Given the description of an element on the screen output the (x, y) to click on. 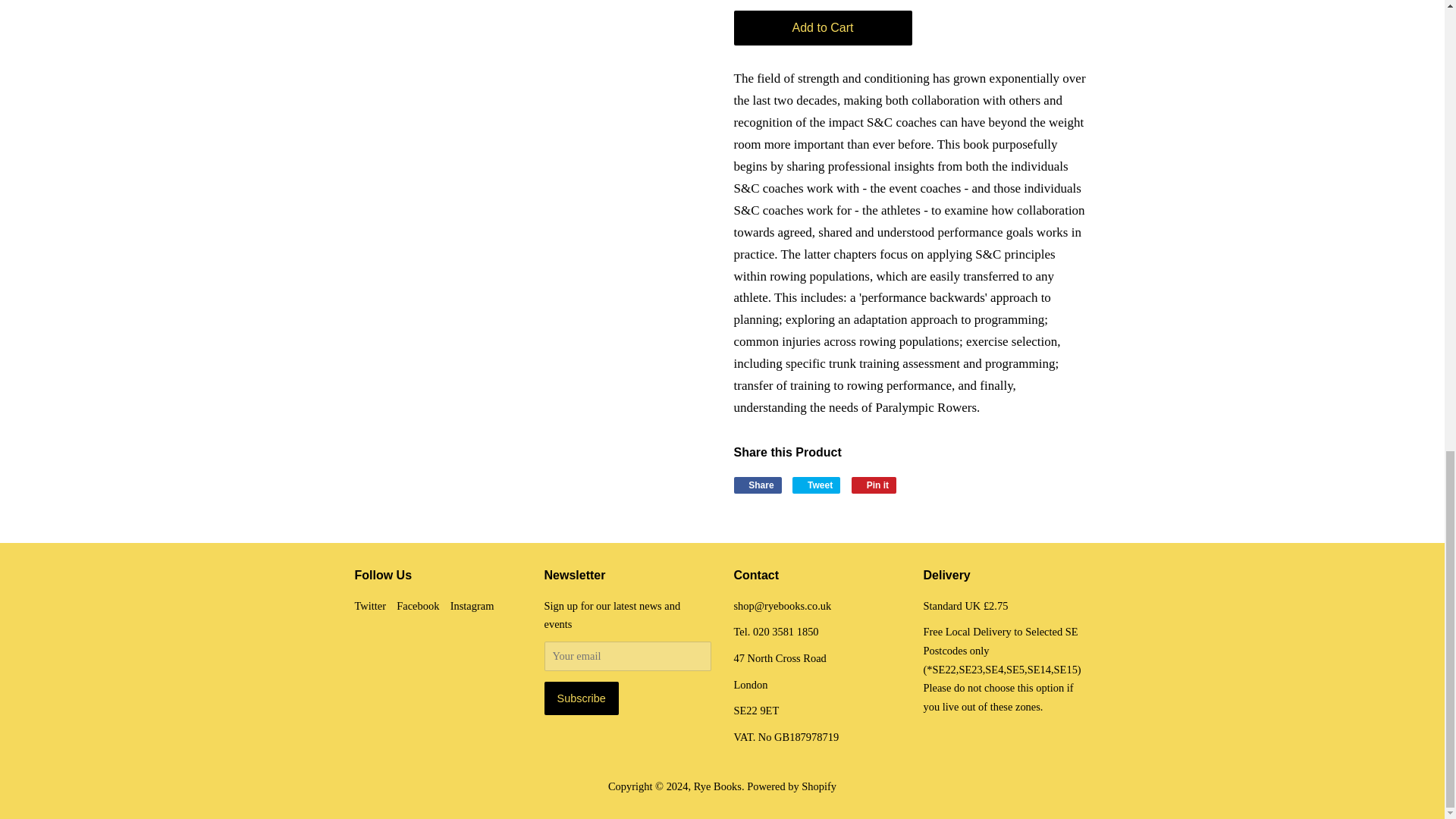
Pin on Pinterest (873, 484)
Tweet on Twitter (816, 484)
Share on Facebook (757, 484)
Rye Books on Instagram (472, 605)
Rye Books on Twitter (371, 605)
Subscribe (581, 697)
Rye Books on Facebook (417, 605)
